Given the description of an element on the screen output the (x, y) to click on. 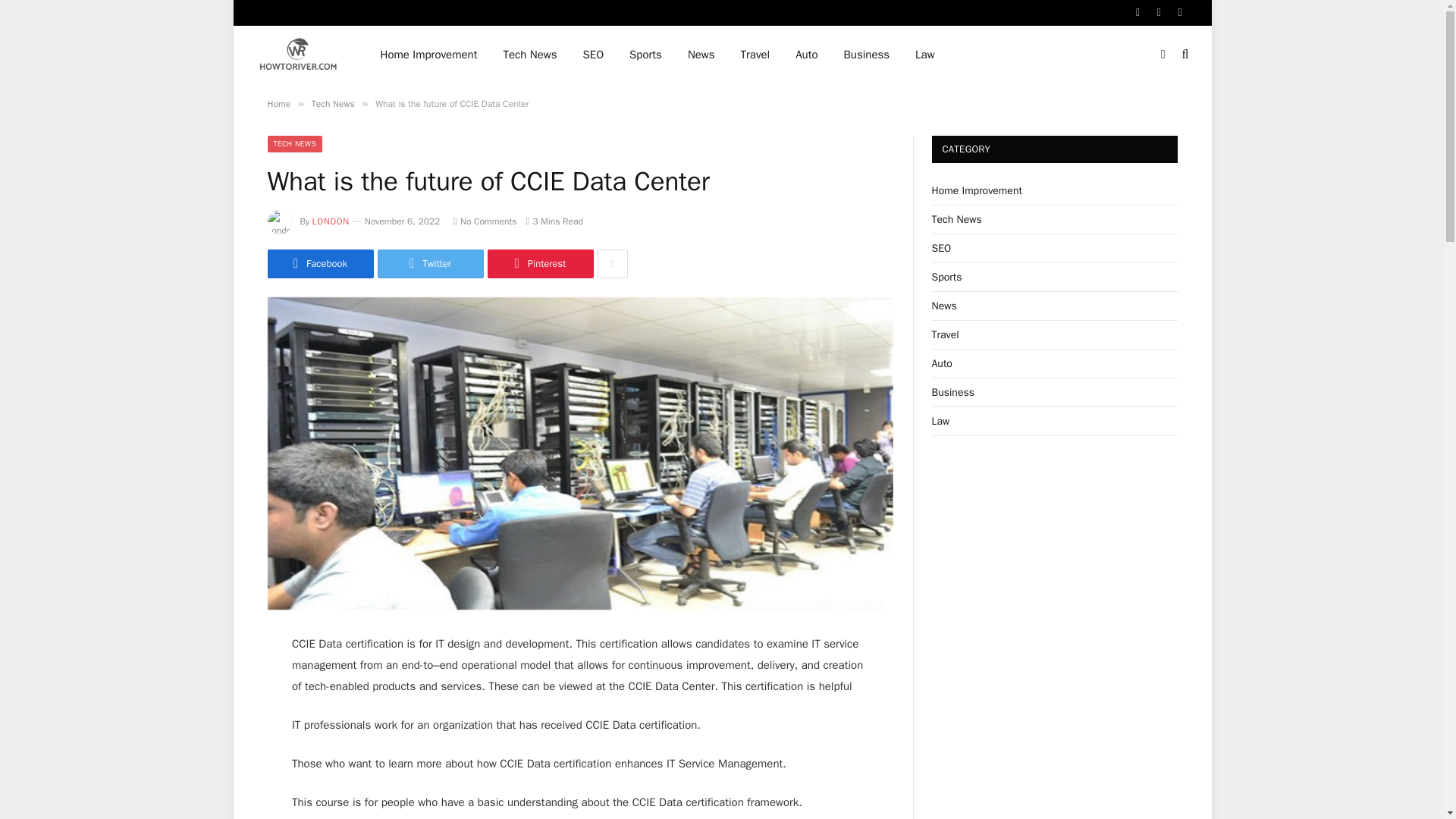
Tech News (333, 103)
Tech News (529, 54)
Business (866, 54)
Twitter (430, 263)
LONDON (331, 221)
Share on Pinterest (539, 263)
Travel (755, 54)
Posts by London (331, 221)
TECH NEWS (293, 143)
Share on Facebook (319, 263)
